Given the description of an element on the screen output the (x, y) to click on. 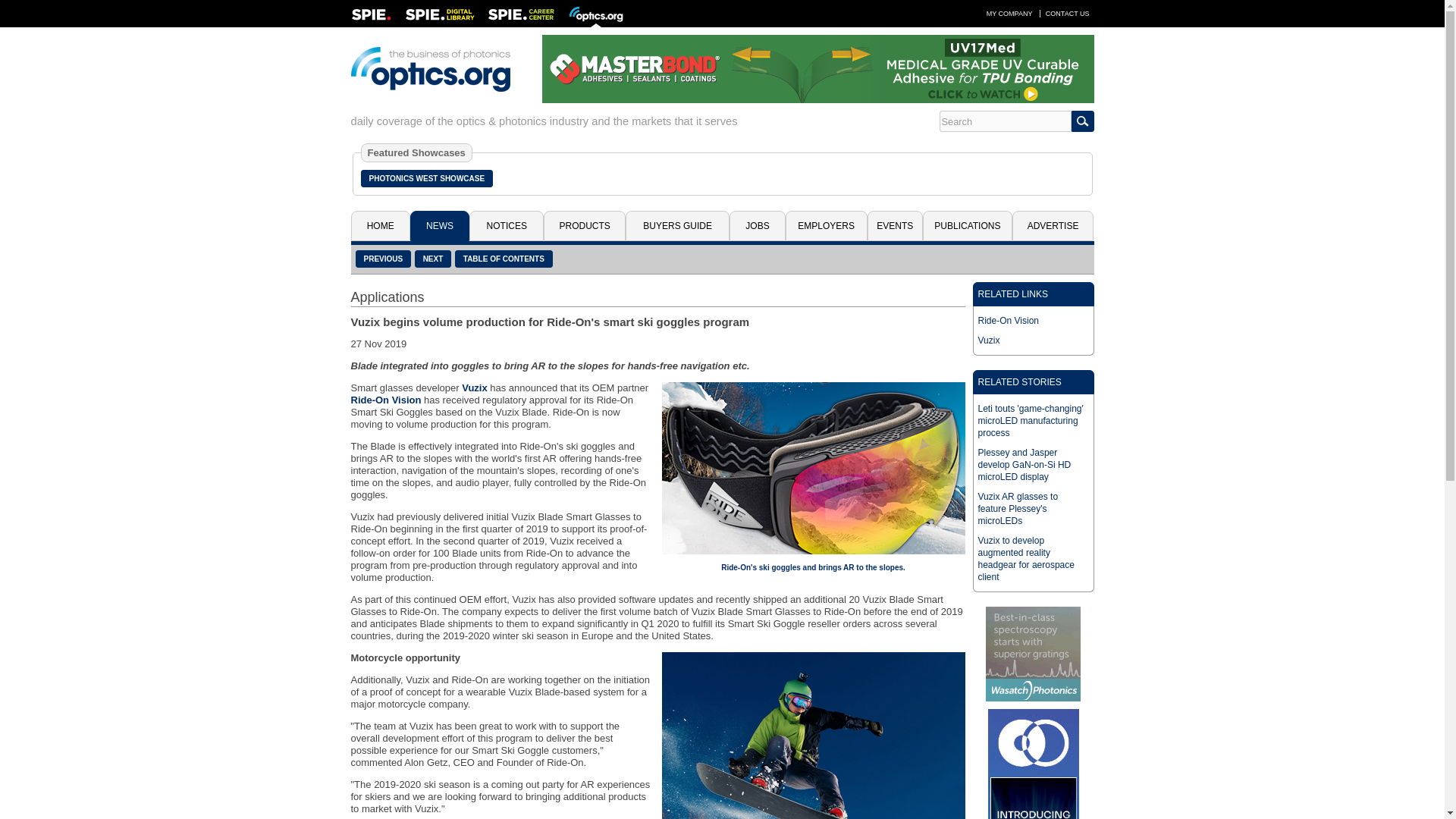
Search (1004, 120)
NEWS (439, 225)
HOME (379, 225)
NOTICES (505, 225)
MY COMPANY (1008, 13)
PRODUCTS (584, 225)
Ride-On's ski goggles and brings AR to the slopes. (812, 468)
JOBS (757, 225)
Ride-On's ski goggles and brings AR to the slopes. (812, 567)
